Given the description of an element on the screen output the (x, y) to click on. 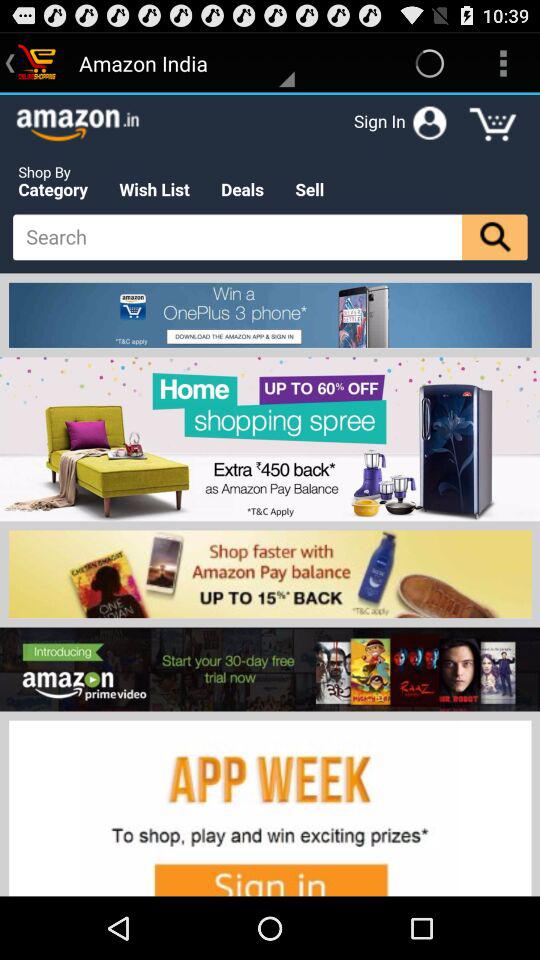
full display (270, 495)
